Given the description of an element on the screen output the (x, y) to click on. 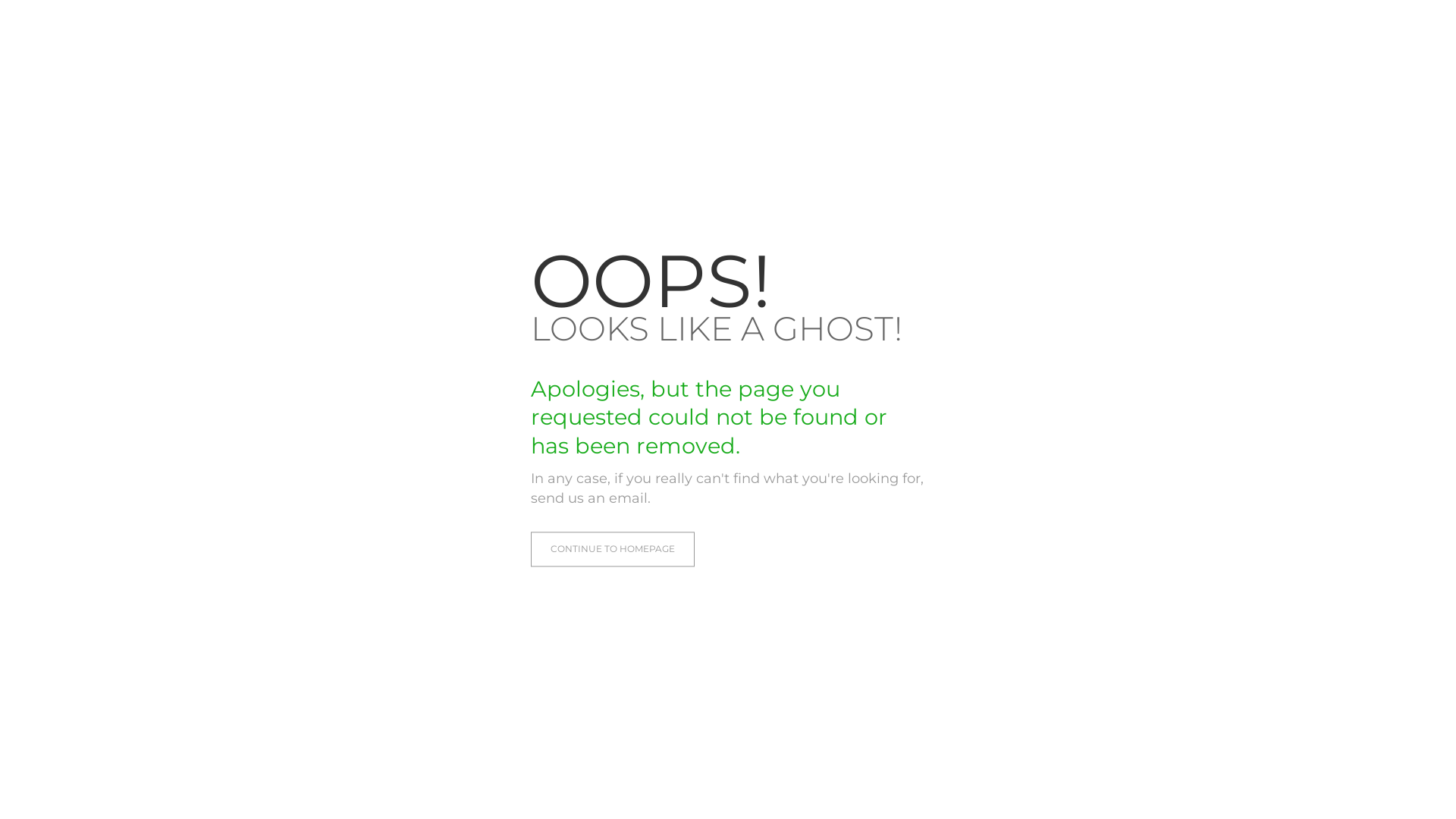
CONTINUE TO HOMEPAGE Element type: text (612, 549)
